Given the description of an element on the screen output the (x, y) to click on. 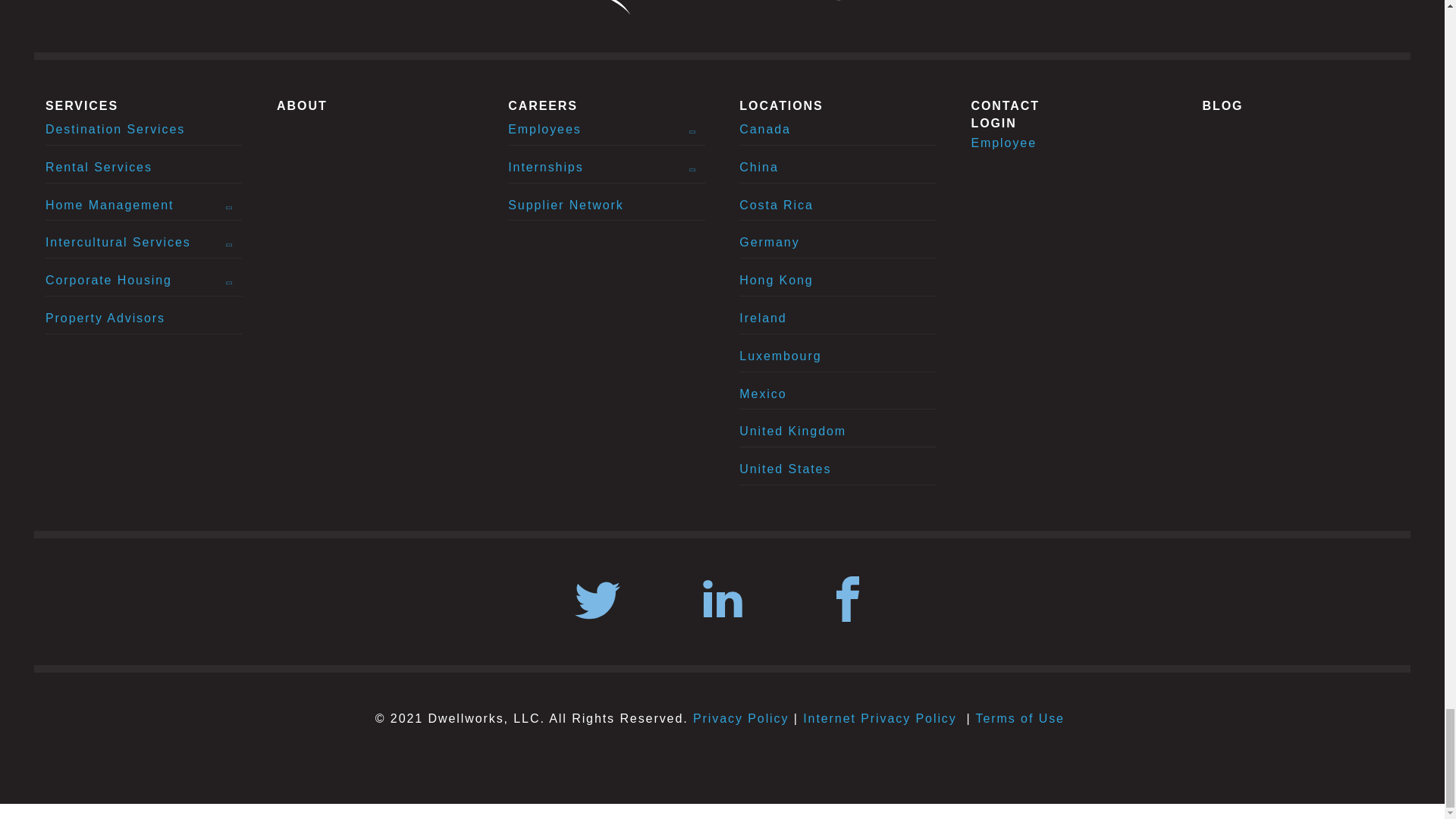
Follow Us on Facebook (847, 601)
Follow us on Twitter (597, 601)
Follow us on LinkedIn (721, 601)
